Given the description of an element on the screen output the (x, y) to click on. 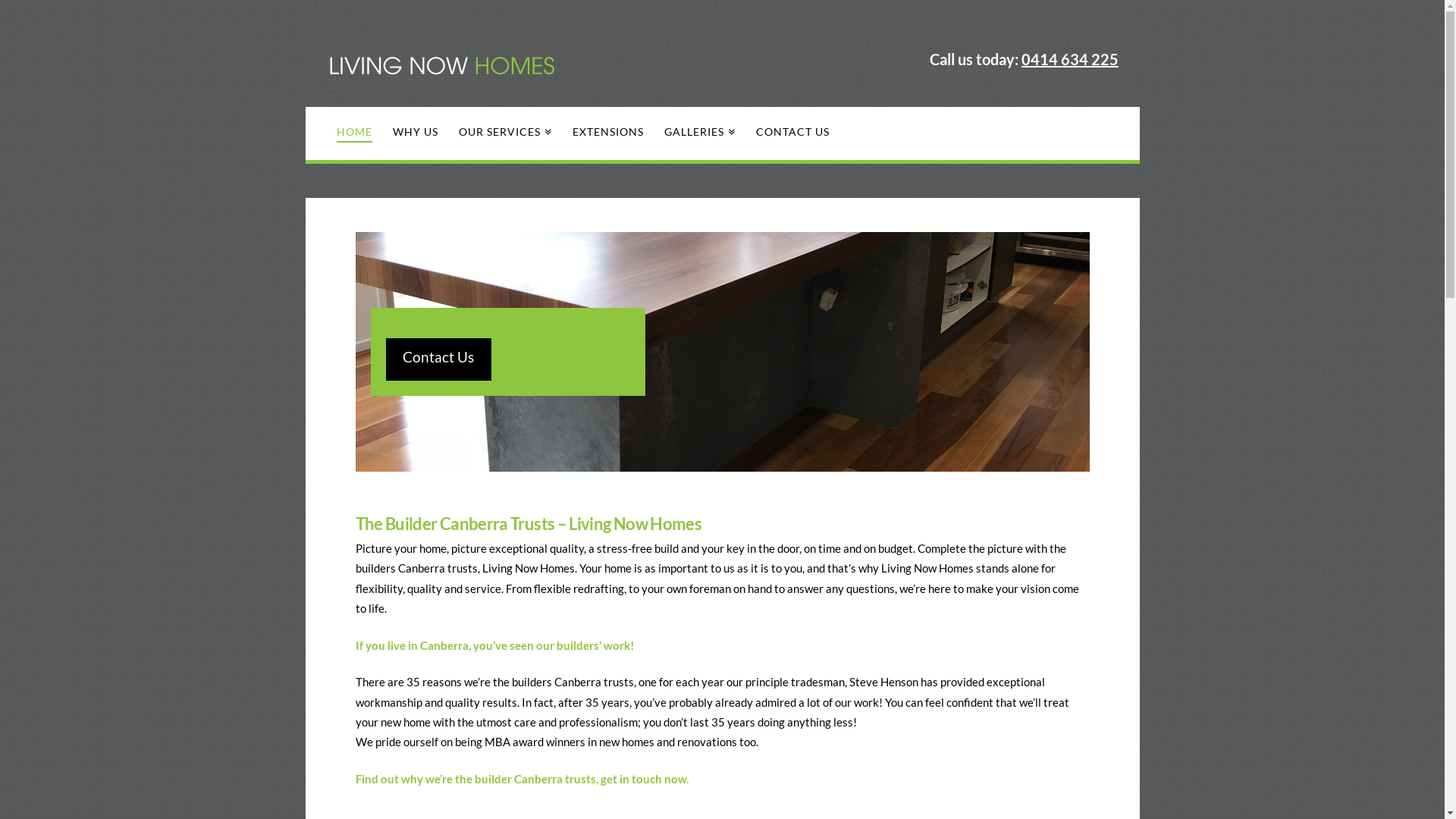
HOME Element type: text (354, 133)
Contact Us Element type: text (438, 359)
EXTENSIONS Element type: text (607, 133)
WHY US Element type: text (415, 133)
0414 634 225 Element type: text (1069, 59)
GALLERIES Element type: text (699, 133)
CONTACT US Element type: text (792, 133)
OUR SERVICES Element type: text (504, 133)
